Given the description of an element on the screen output the (x, y) to click on. 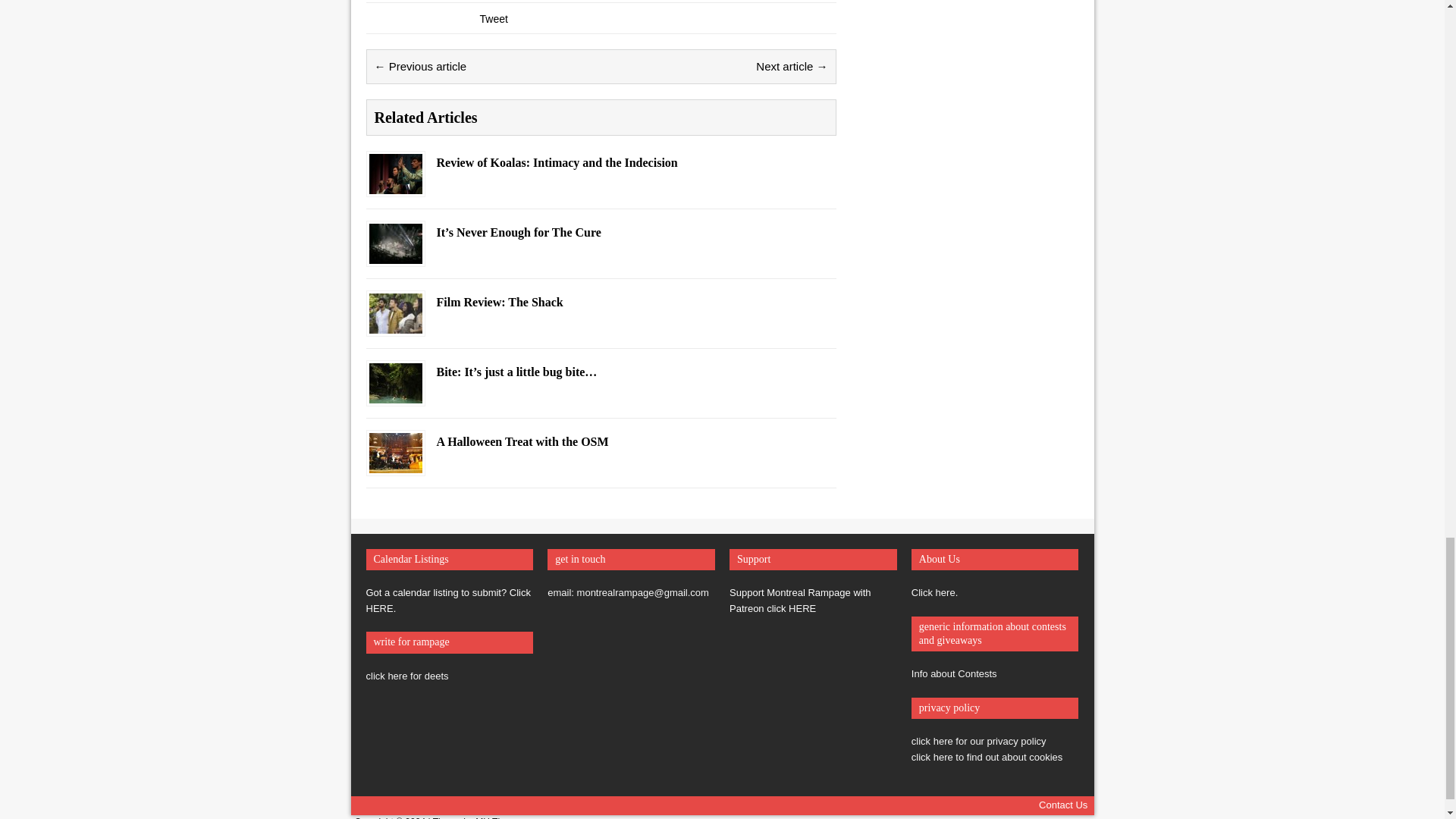
A Halloween Treat with the OSM (395, 463)
Review of Koalas: Intimacy and the Indecision (395, 184)
Film Review: The Shack (395, 324)
Tweet (492, 19)
